Given the description of an element on the screen output the (x, y) to click on. 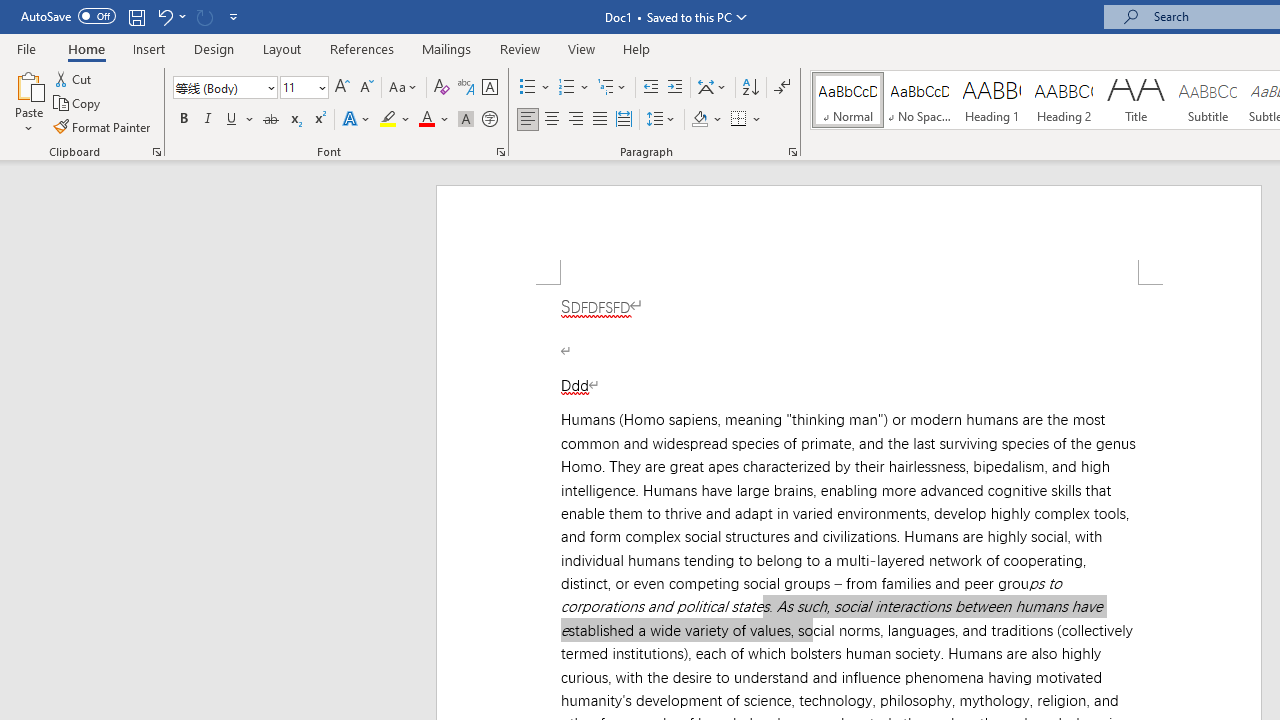
Show/Hide Editing Marks (781, 87)
Align Right (575, 119)
Distributed (623, 119)
Home (86, 48)
Help (637, 48)
Font Color (434, 119)
Grow Font (342, 87)
Decrease Indent (650, 87)
Format Painter (103, 126)
Insert (149, 48)
Underline (232, 119)
Heading 1 (991, 100)
Strikethrough (270, 119)
Save (136, 15)
